Given the description of an element on the screen output the (x, y) to click on. 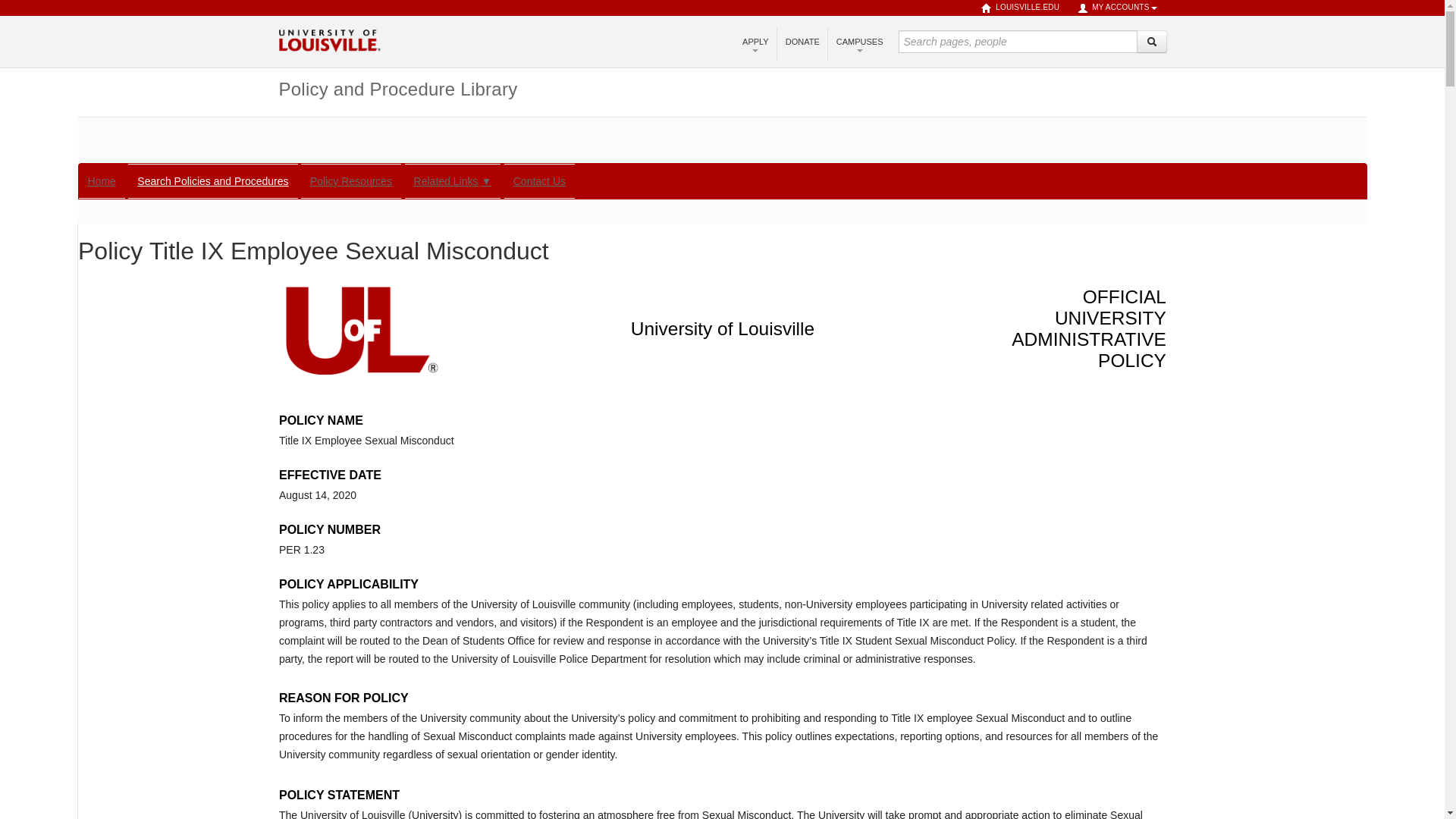
LOUISVILLE.EDU (1020, 7)
Search (1150, 41)
APPLY (755, 43)
University of Louisville (329, 39)
MY ACCOUNTS (1117, 7)
